Given the description of an element on the screen output the (x, y) to click on. 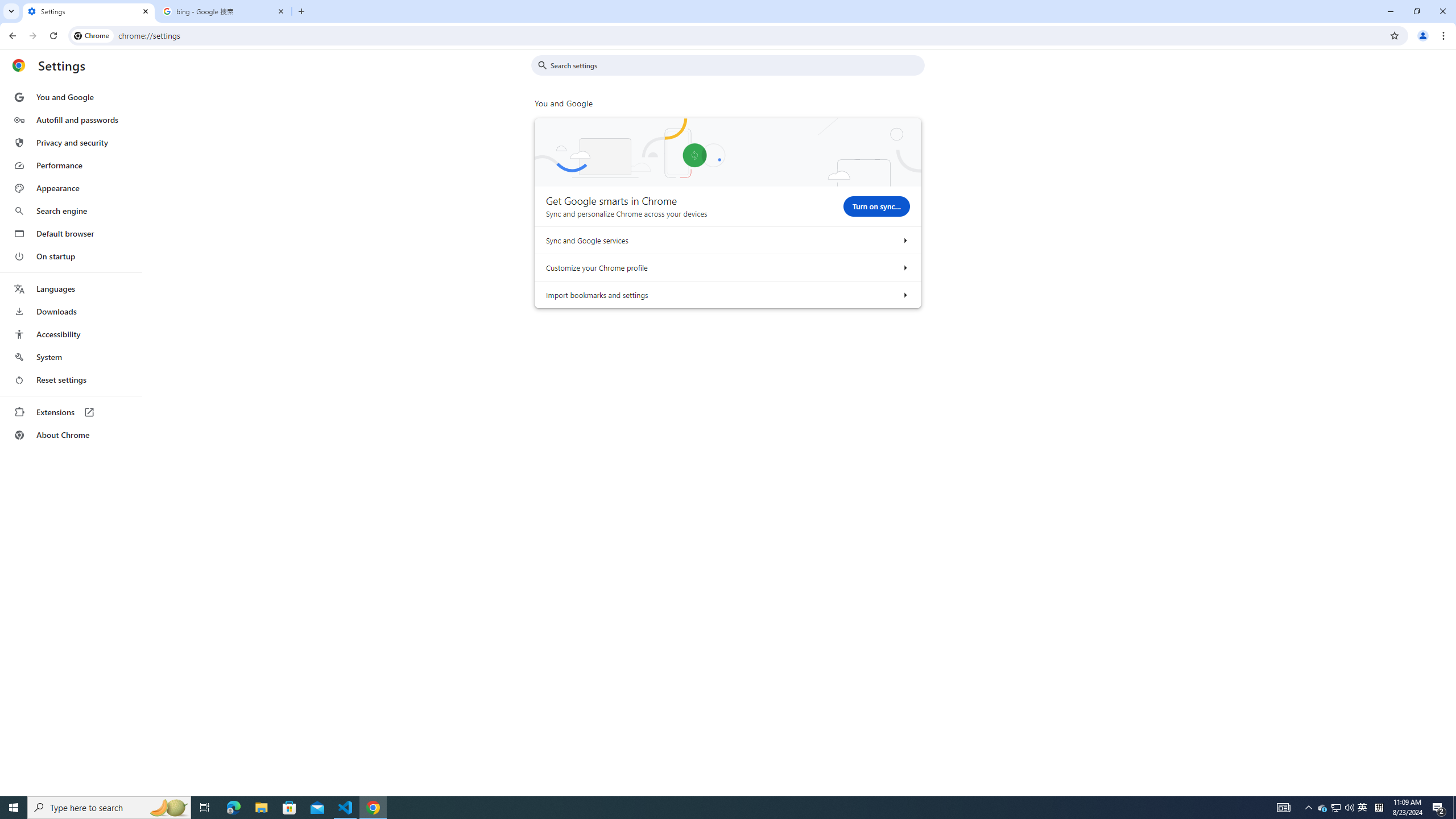
Settings (88, 11)
